Given the description of an element on the screen output the (x, y) to click on. 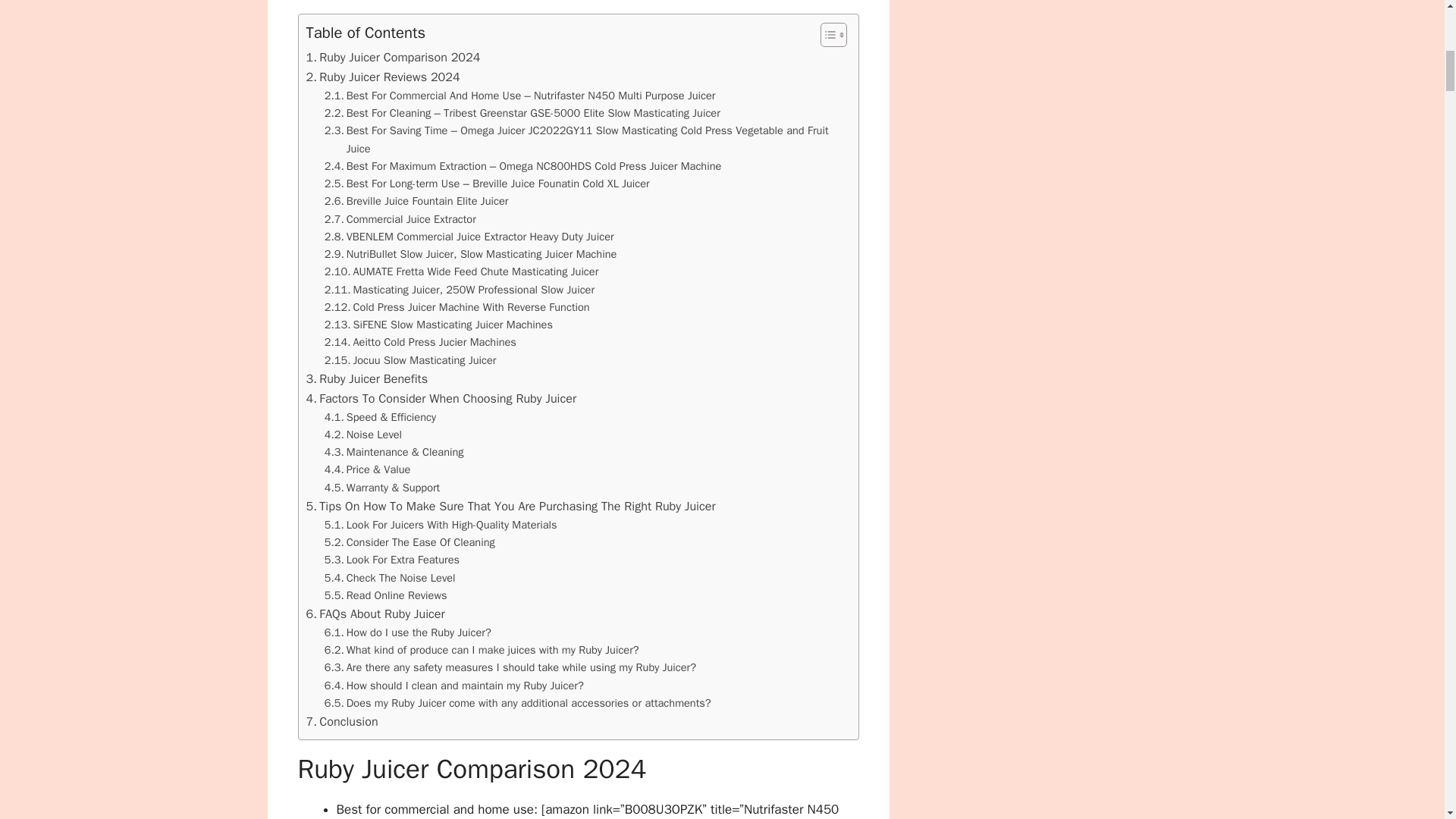
Aeitto Cold Press Jucier Machines  (421, 342)
Jocuu Slow Masticating Juicer  (411, 360)
Check The Noise Level (389, 577)
SiFENE Slow Masticating Juicer Machines  (440, 324)
Factors To Consider When Choosing Ruby Juicer  (442, 398)
Masticating Juicer, 250W Professional Slow Juicer (459, 289)
Ruby Juicer Benefits (366, 379)
Ruby Juicer Comparison 2024 (392, 57)
Noise Level  (365, 434)
Cold Press Juicer Machine With Reverse Function (456, 307)
